Given the description of an element on the screen output the (x, y) to click on. 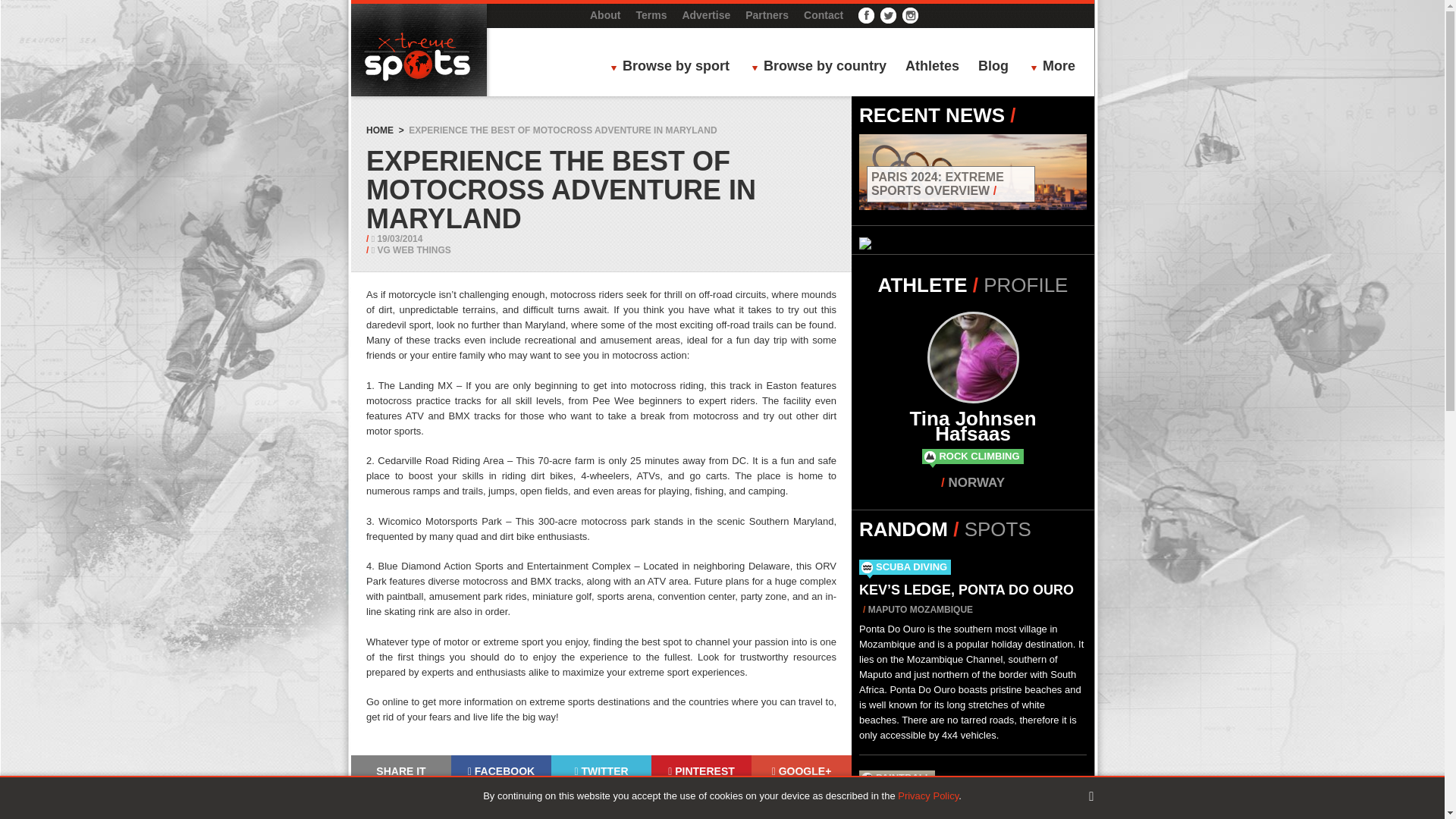
View all spots in Scuba Diving (911, 566)
FACEBOOK (501, 771)
HOME (379, 130)
Browse by country (823, 67)
RECENT NEWS (931, 115)
Terms (650, 15)
Contact (823, 15)
More (1056, 67)
View all spots in Paintball (903, 777)
About (604, 15)
Browse by sport (674, 67)
Partners (767, 15)
View this spot (966, 589)
ROCK CLIMBING (979, 455)
View this spot (952, 800)
